Given the description of an element on the screen output the (x, y) to click on. 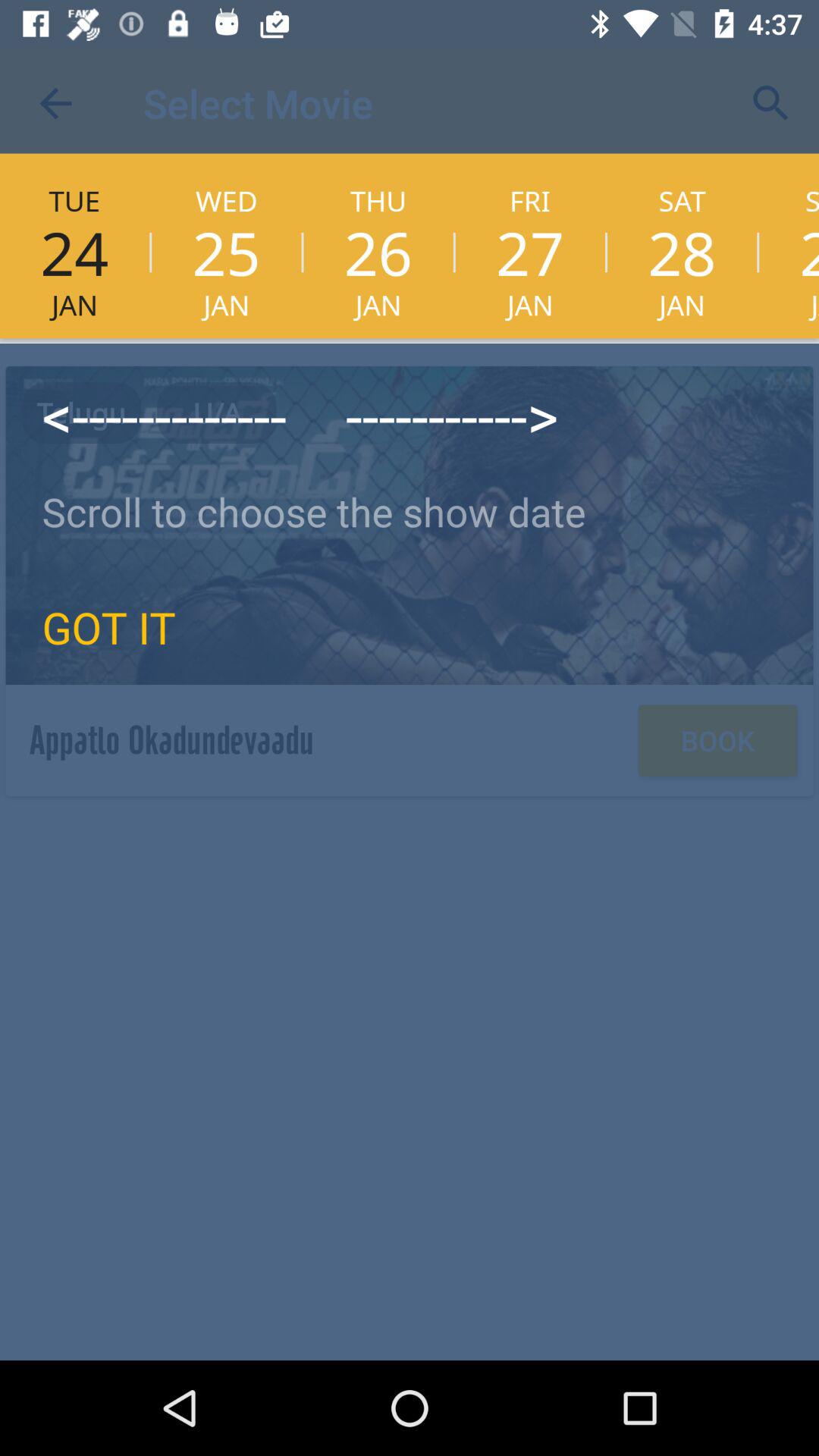
jump to book (717, 740)
